Given the description of an element on the screen output the (x, y) to click on. 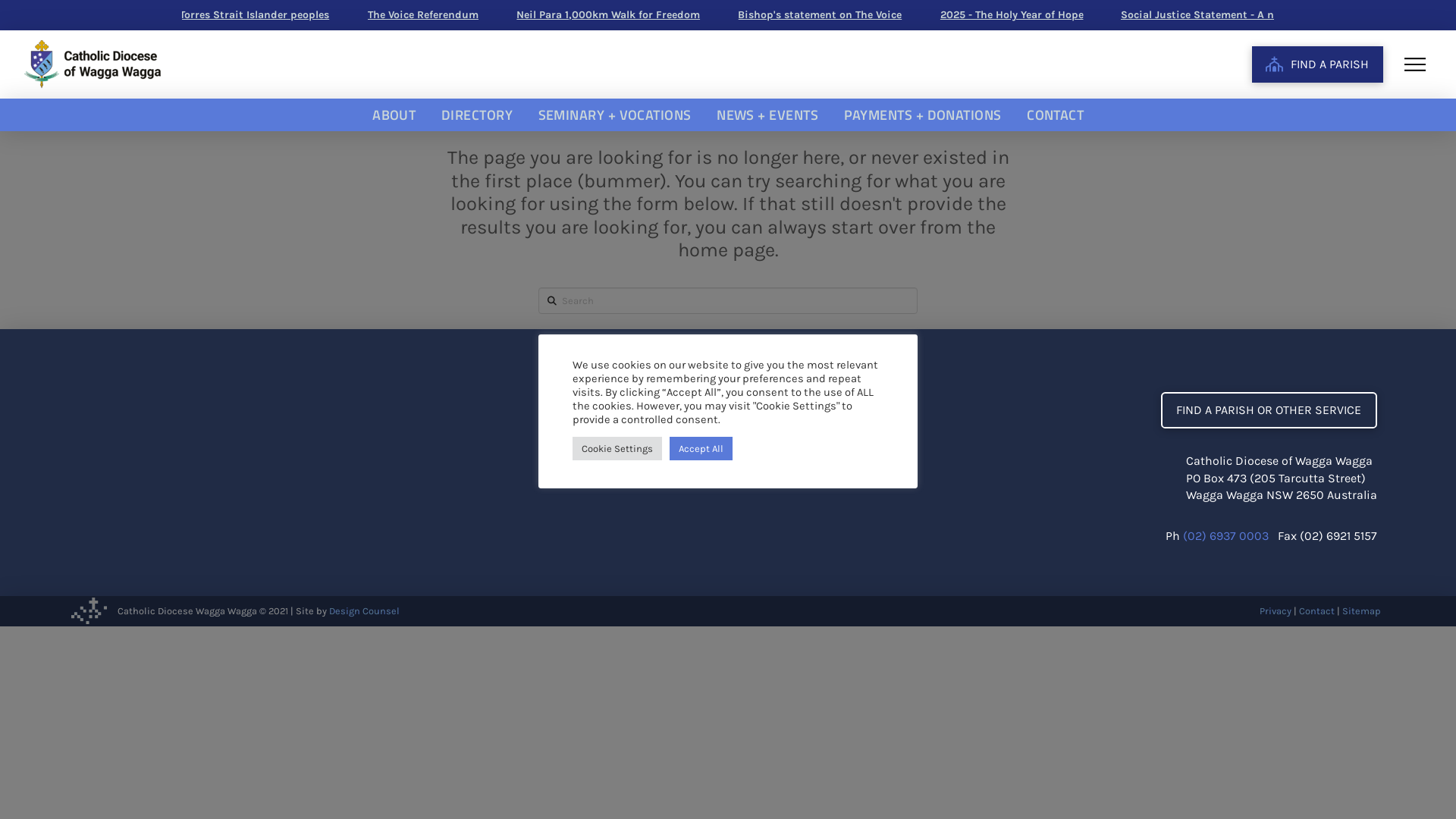
(02) 6937 0003 Element type: text (1225, 535)
Design Counsel Element type: text (364, 610)
Neil Para 1,000km Walk for Freedom Element type: text (454, 14)
DIRECTORY Element type: text (476, 114)
SEMINARY + VOCATIONS Element type: text (614, 114)
Bishop's statement on The Voice Element type: text (665, 14)
ABOUT Element type: text (393, 114)
CONTACT Element type: text (1054, 114)
FIND A PARISH Element type: text (1317, 64)
Accept All Element type: text (700, 448)
PAYMENTS + DONATIONS Element type: text (922, 114)
Contact Element type: text (1316, 610)
The Voice Referendum Element type: text (269, 14)
NEWS + EVENTS Element type: text (766, 114)
Cookie Settings Element type: text (617, 448)
2025 - The Holy Year of Hope Element type: text (856, 14)
FIND A PARISH OR OTHER SERVICE Element type: text (1269, 410)
Sitemap Element type: text (1361, 610)
Privacy Element type: text (1275, 610)
